Given the description of an element on the screen output the (x, y) to click on. 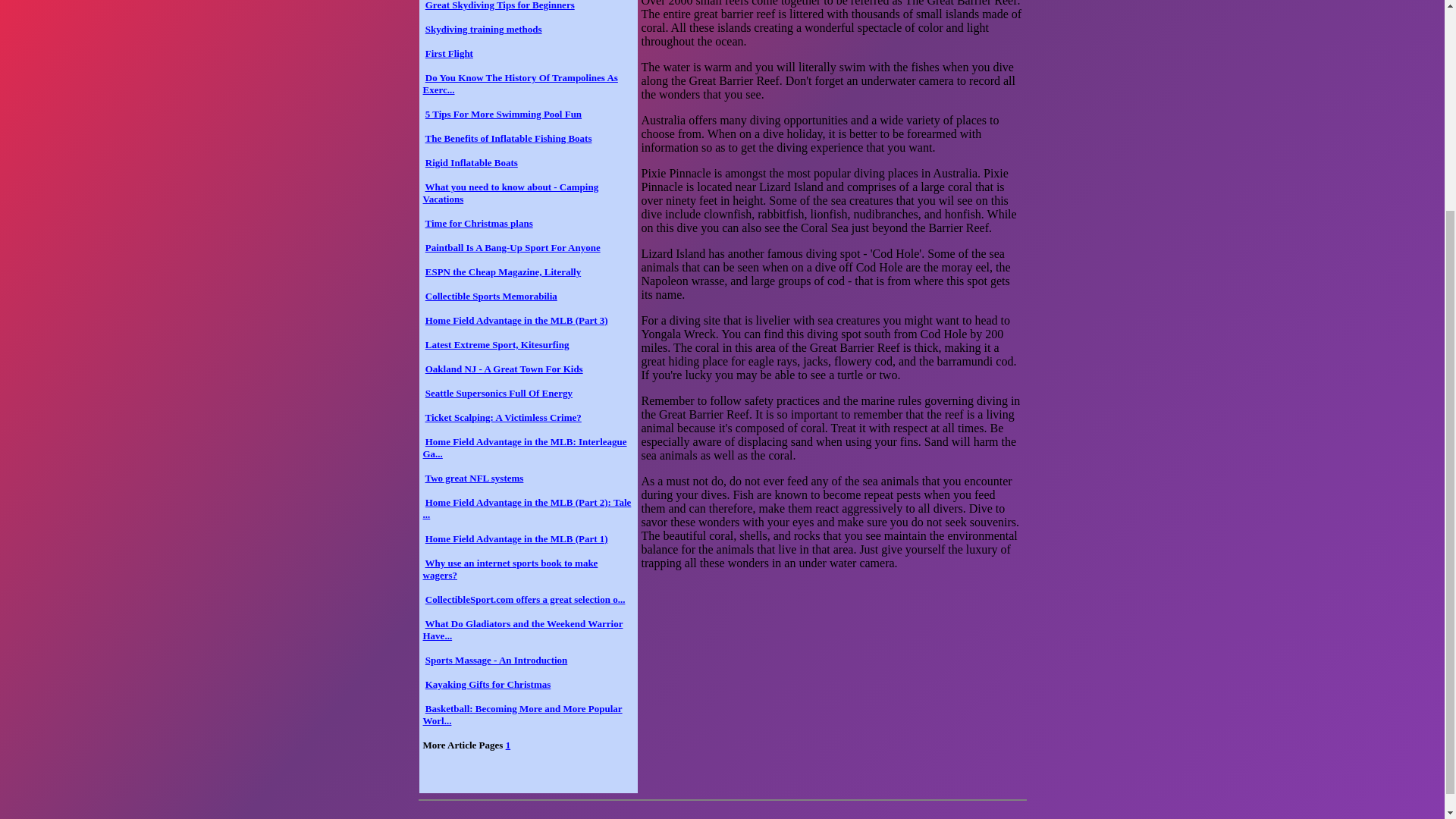
Two great NFL systems (474, 478)
Rigid Inflatable Boats (471, 162)
ESPN the Cheap Magazine, Literally (502, 271)
5 Tips For More Swimming Pool Fun (502, 113)
Basketball: Becoming More and More Popular Worl... (523, 714)
First Flight (449, 52)
Do You Know The History Of Trampolines As Exerc... (520, 83)
CollectibleSport.com offers a great selection o... (525, 599)
The Benefits of Inflatable Fishing Boats (508, 138)
Kayaking Gifts for Christmas (488, 684)
